Given the description of an element on the screen output the (x, y) to click on. 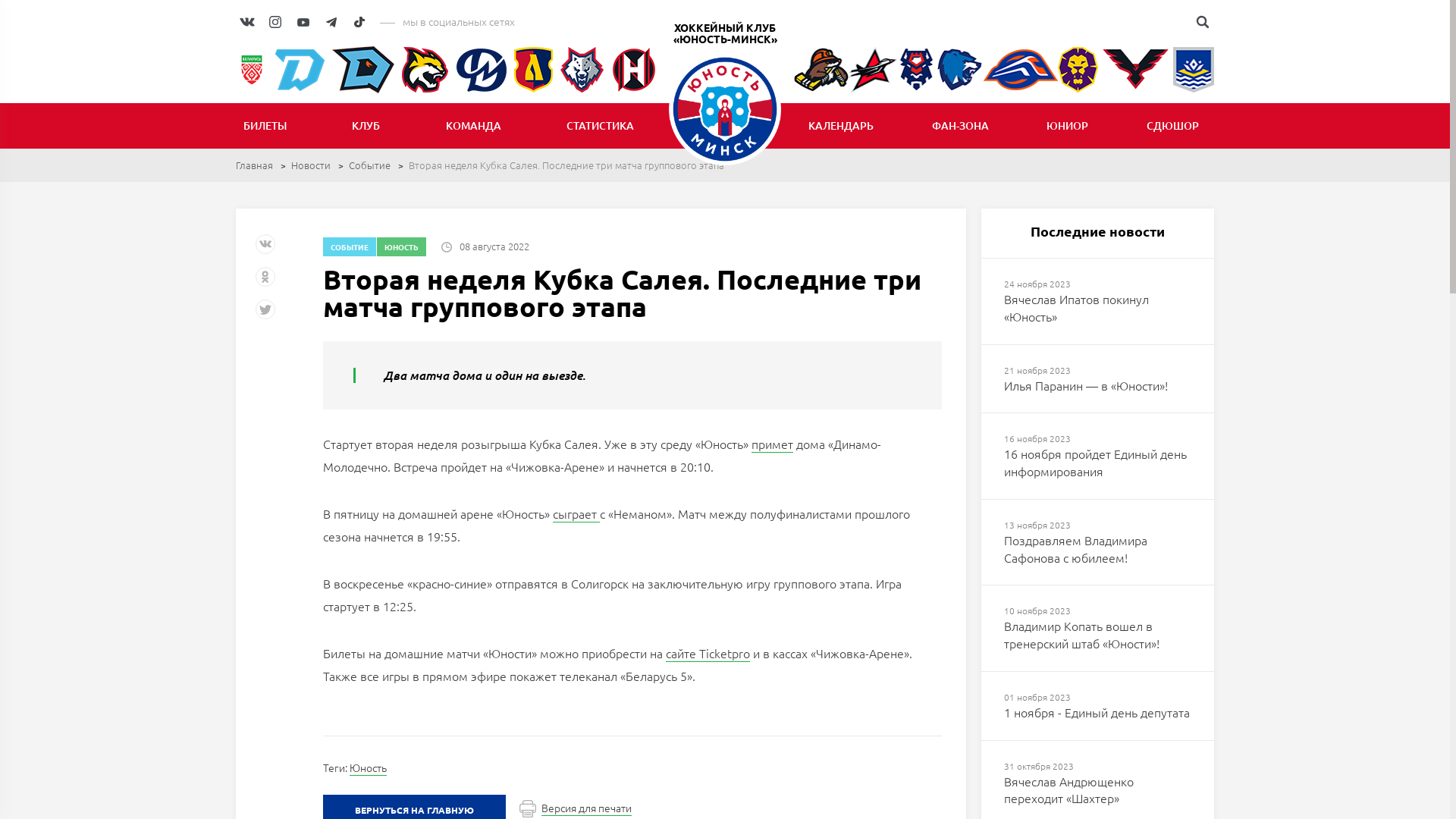
Twitter Element type: hover (266, 314)
